Given the description of an element on the screen output the (x, y) to click on. 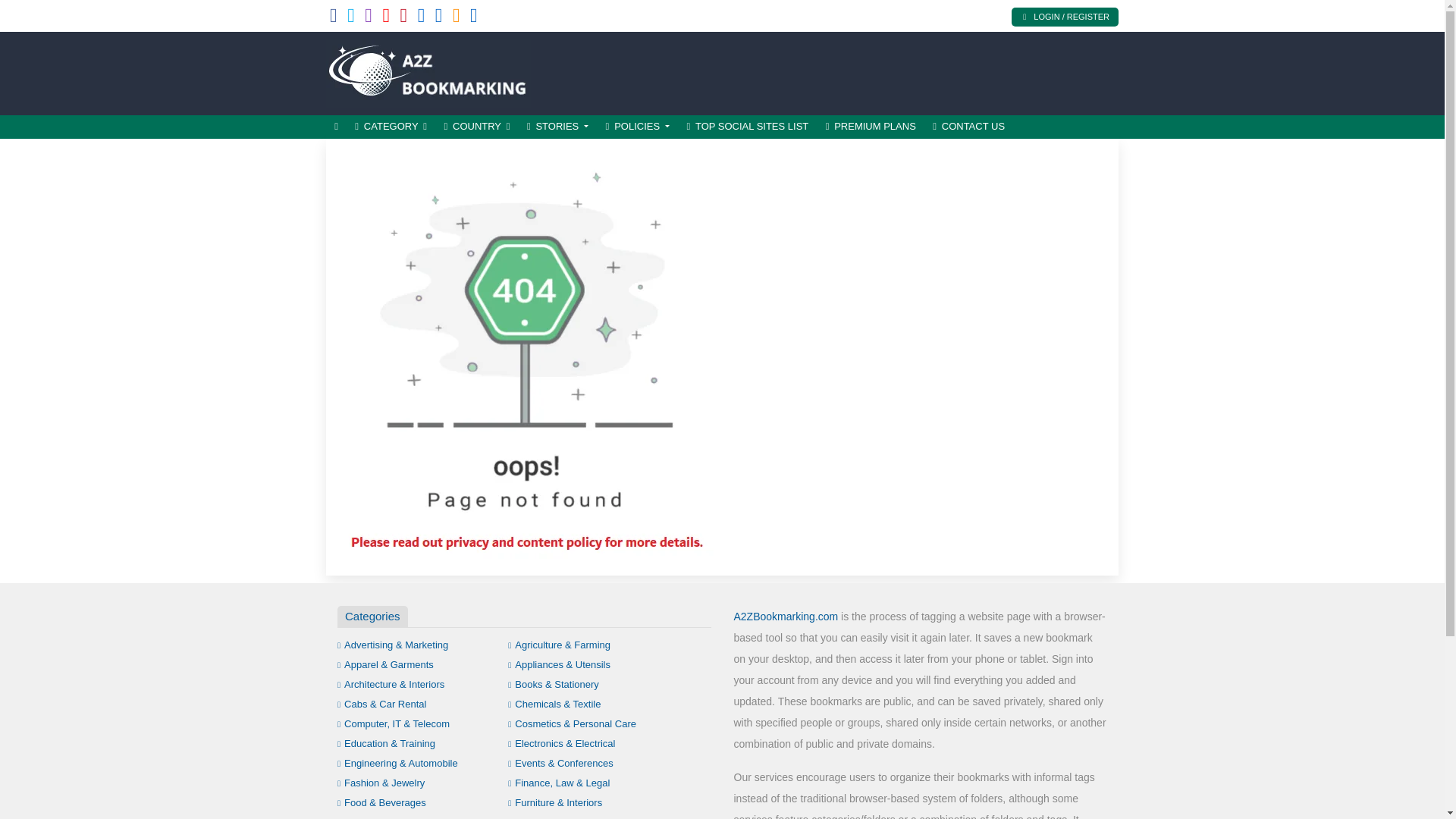
CATEGORY (390, 126)
Submit Quality Articles to Dofollow Social Bookmarking Site (428, 71)
